Given the description of an element on the screen output the (x, y) to click on. 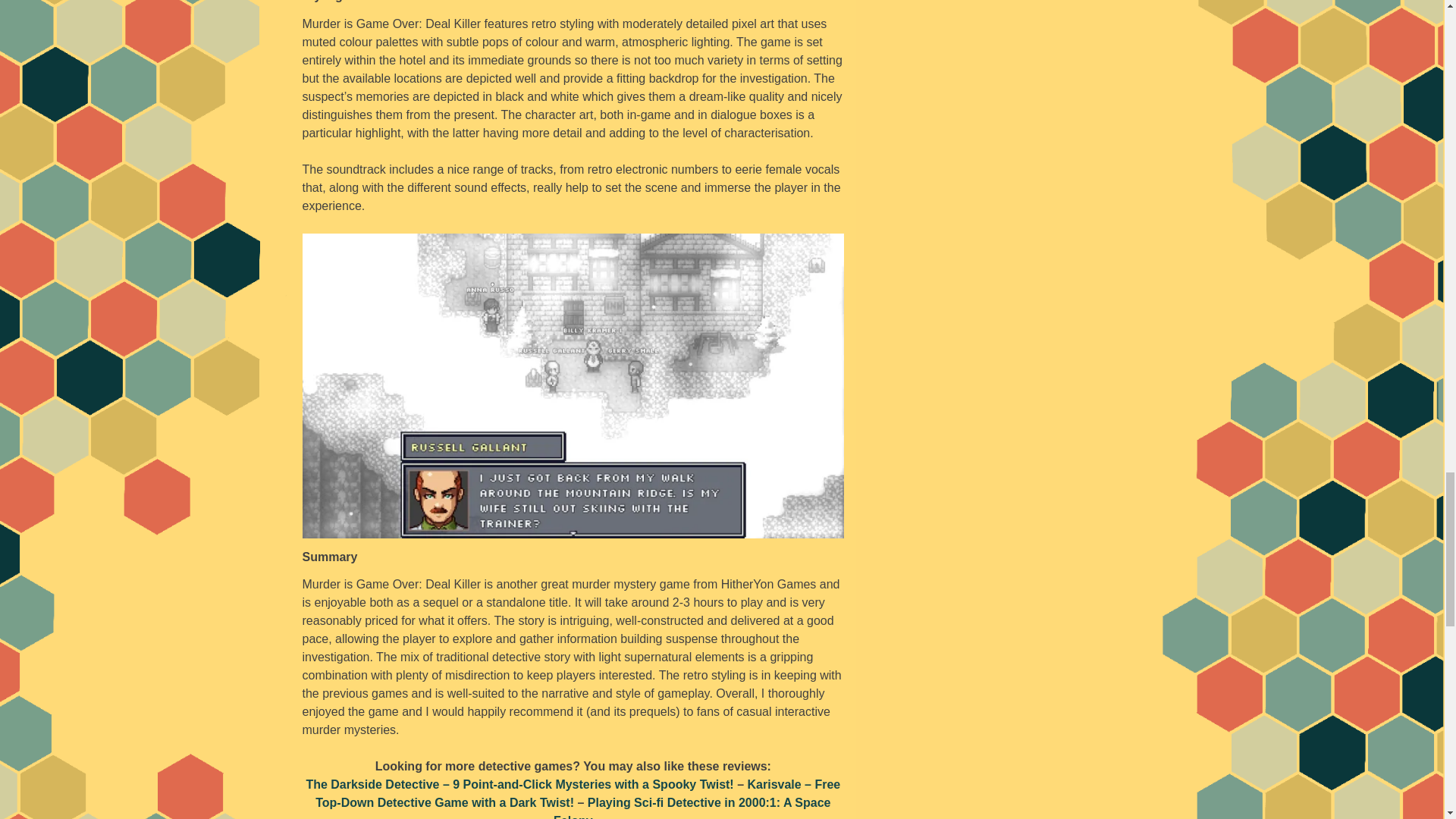
Playing Sci-fi Detective in 2000:1: A Space Felony (691, 807)
